Given the description of an element on the screen output the (x, y) to click on. 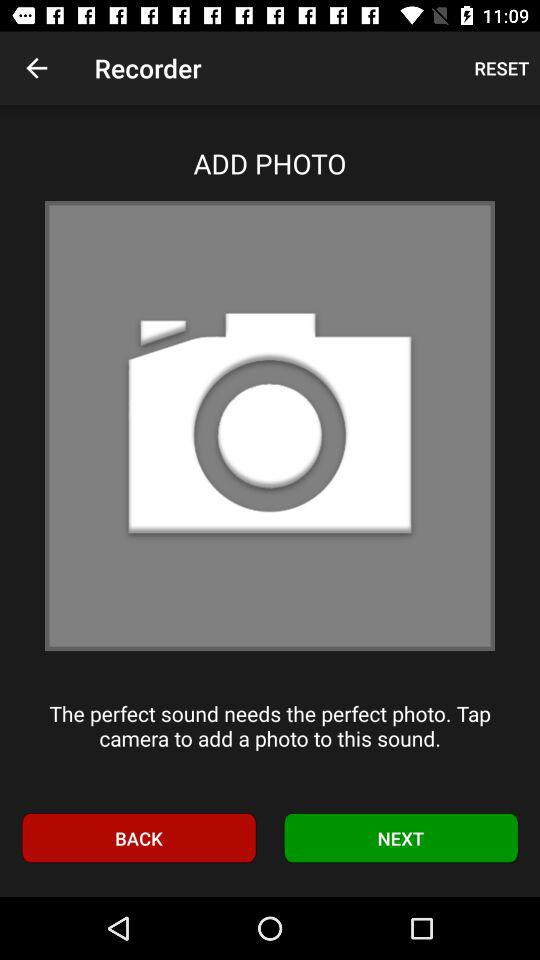
add photo to sound (270, 426)
